Given the description of an element on the screen output the (x, y) to click on. 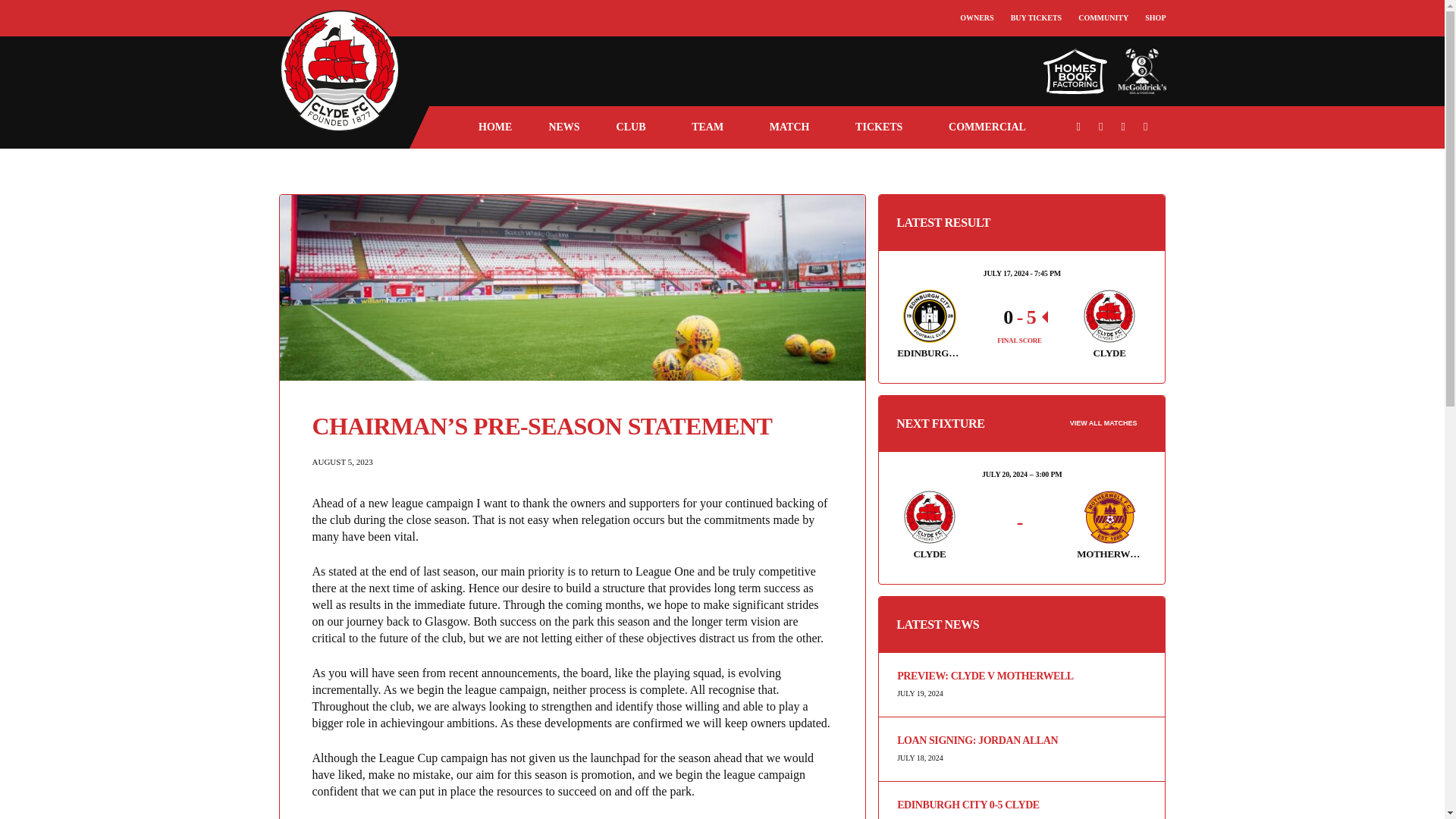
COMMERCIAL (992, 127)
Clyde (929, 516)
HOME (494, 127)
NEWS (562, 127)
Edinburgh City 0-5 Clyde (1021, 805)
LOAN SIGNING: Jordan Allan (1021, 740)
TEAM (711, 127)
TICKETS (883, 127)
COMMUNITY (1103, 18)
BUY TICKETS (1036, 18)
CLUB (636, 127)
OWNERS (975, 18)
PREVIEW: Clyde v Motherwell (1021, 675)
MATCH (794, 127)
Motherwell (1109, 516)
